Given the description of an element on the screen output the (x, y) to click on. 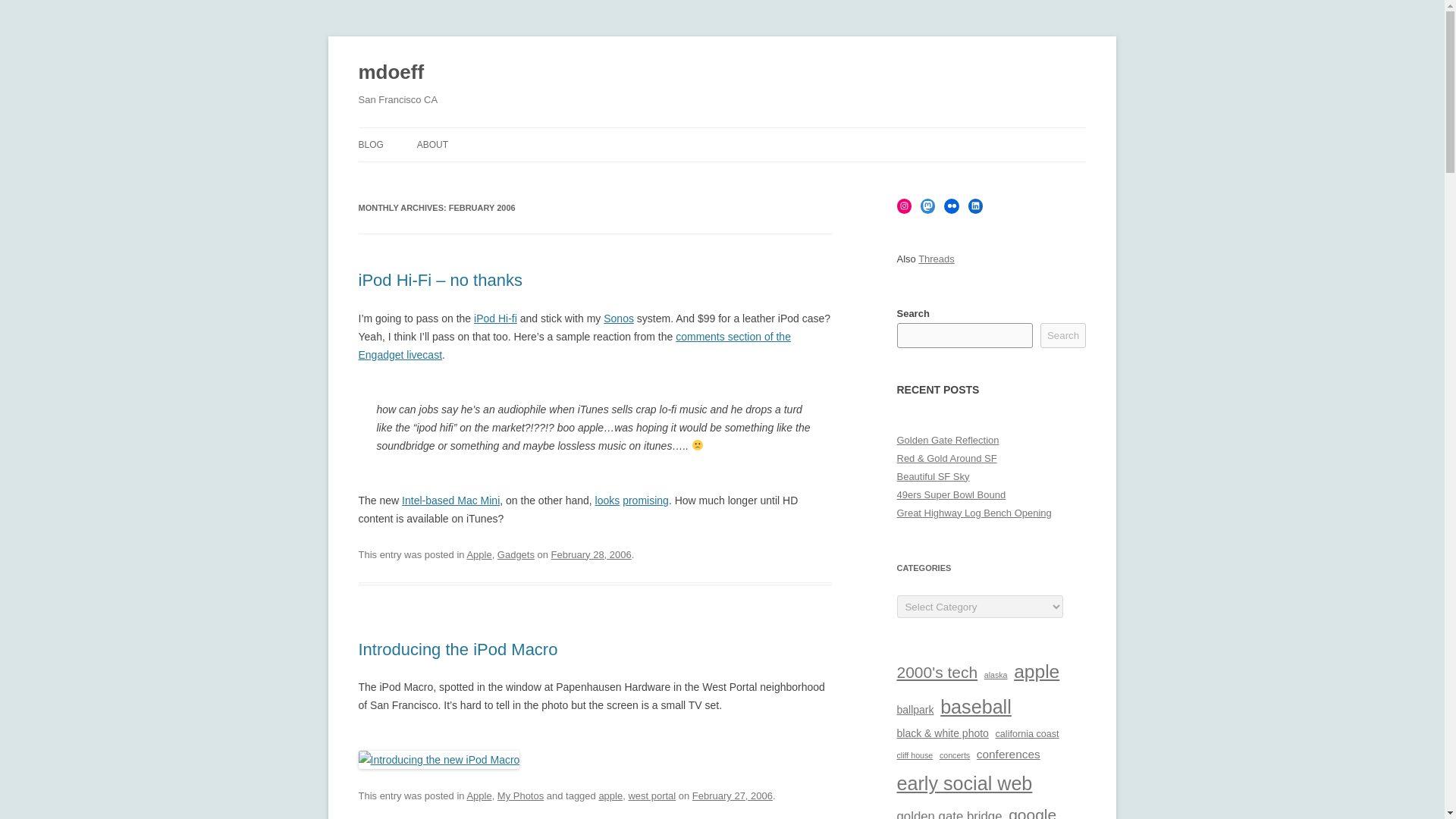
west portal (651, 795)
promising (645, 500)
mdoeff (390, 72)
Intel-based Mac Mini (450, 500)
February 27, 2006 (733, 795)
Photo Sharing (438, 759)
My Photos (520, 795)
BLOG (370, 144)
Introducing the iPod Macro (457, 649)
iPod Hi-fi (495, 318)
February 28, 2006 (591, 554)
2:29 pm (733, 795)
mdoeff (390, 72)
Sonos (618, 318)
